Given the description of an element on the screen output the (x, y) to click on. 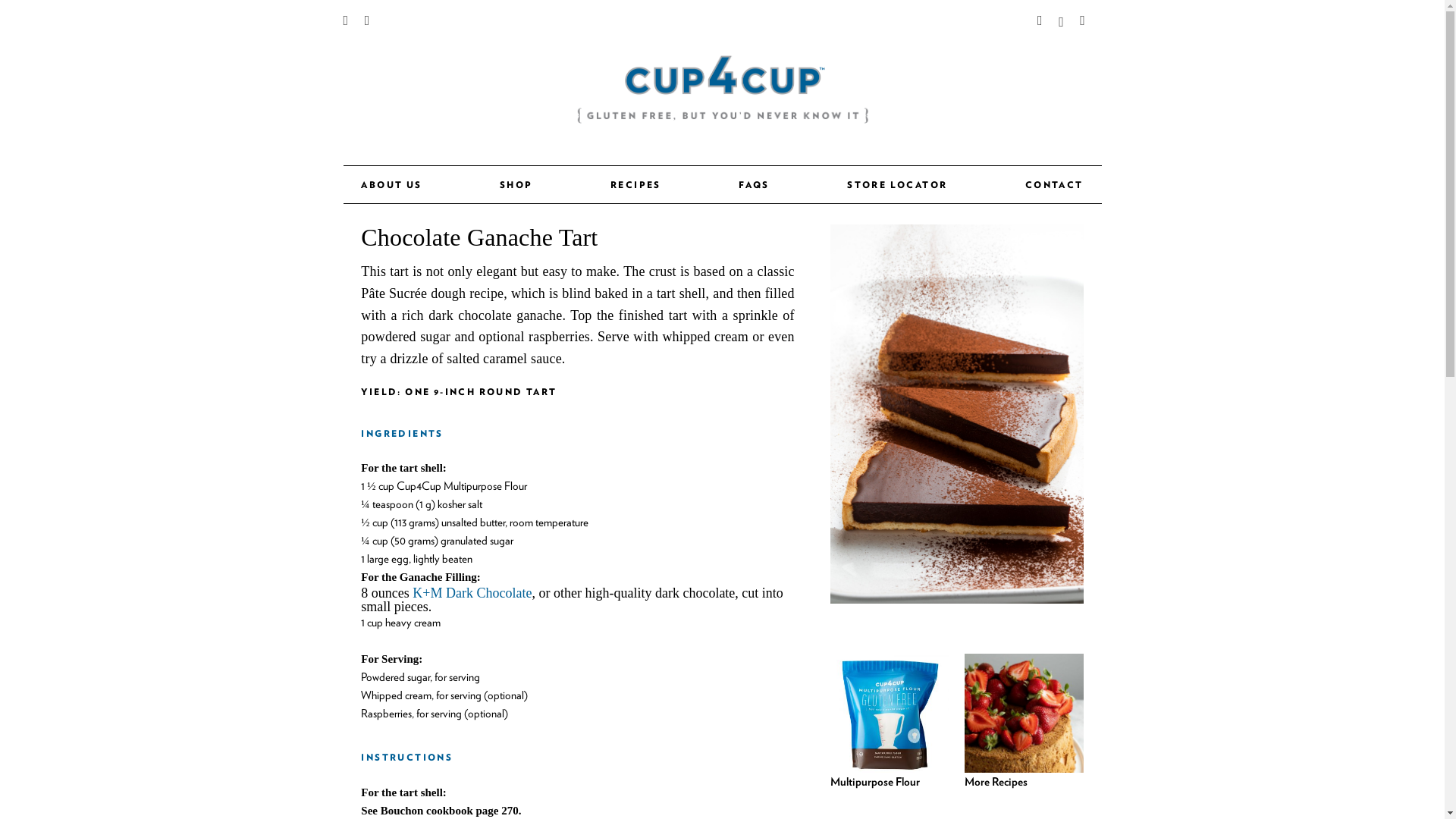
CONTACT (1054, 184)
ABOUT US (391, 184)
SHOP (515, 184)
RECIPES (635, 184)
STORE LOCATOR (897, 184)
FAQS (754, 184)
